Given the description of an element on the screen output the (x, y) to click on. 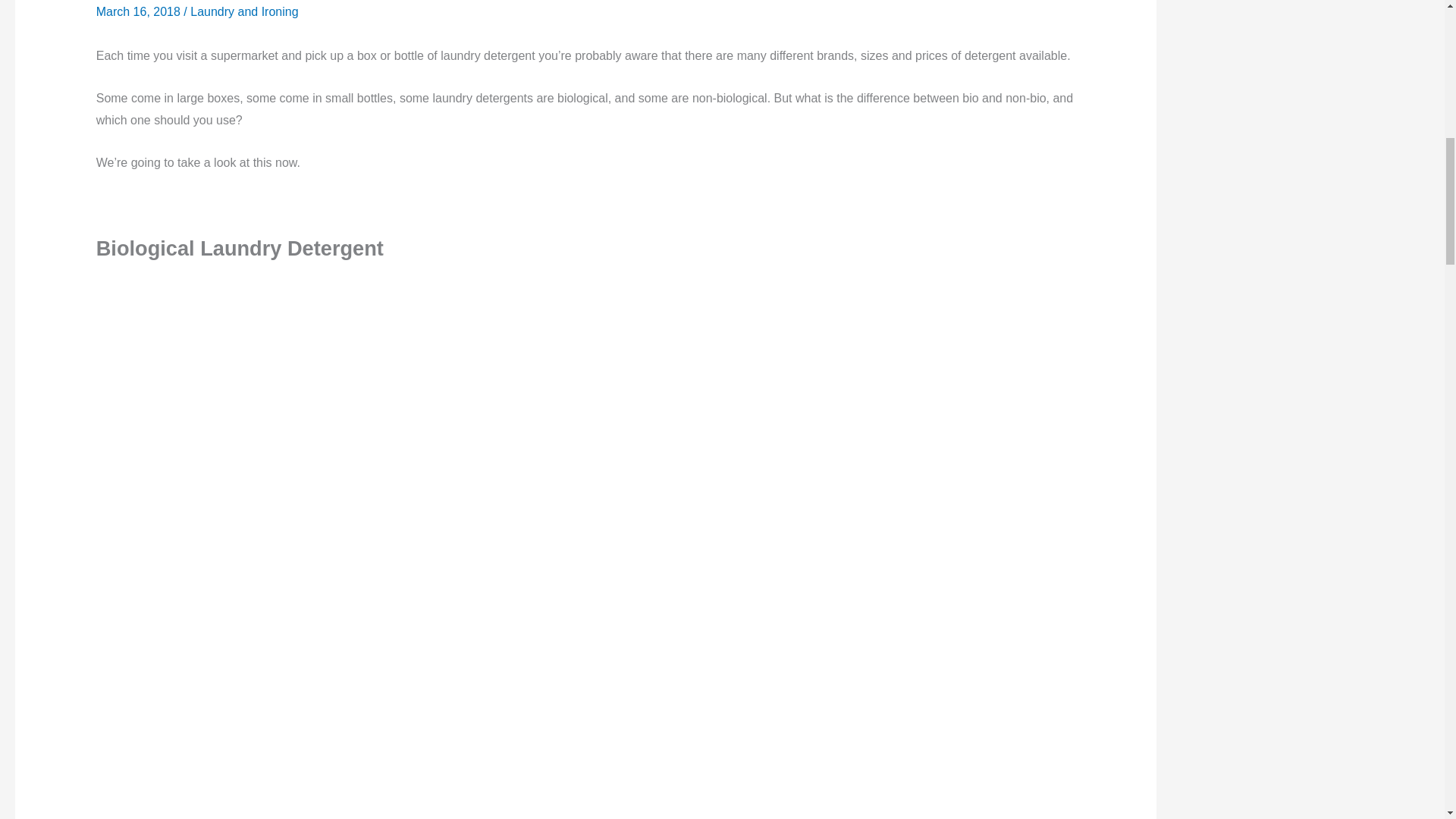
Laundry and Ironing (244, 11)
